Given the description of an element on the screen output the (x, y) to click on. 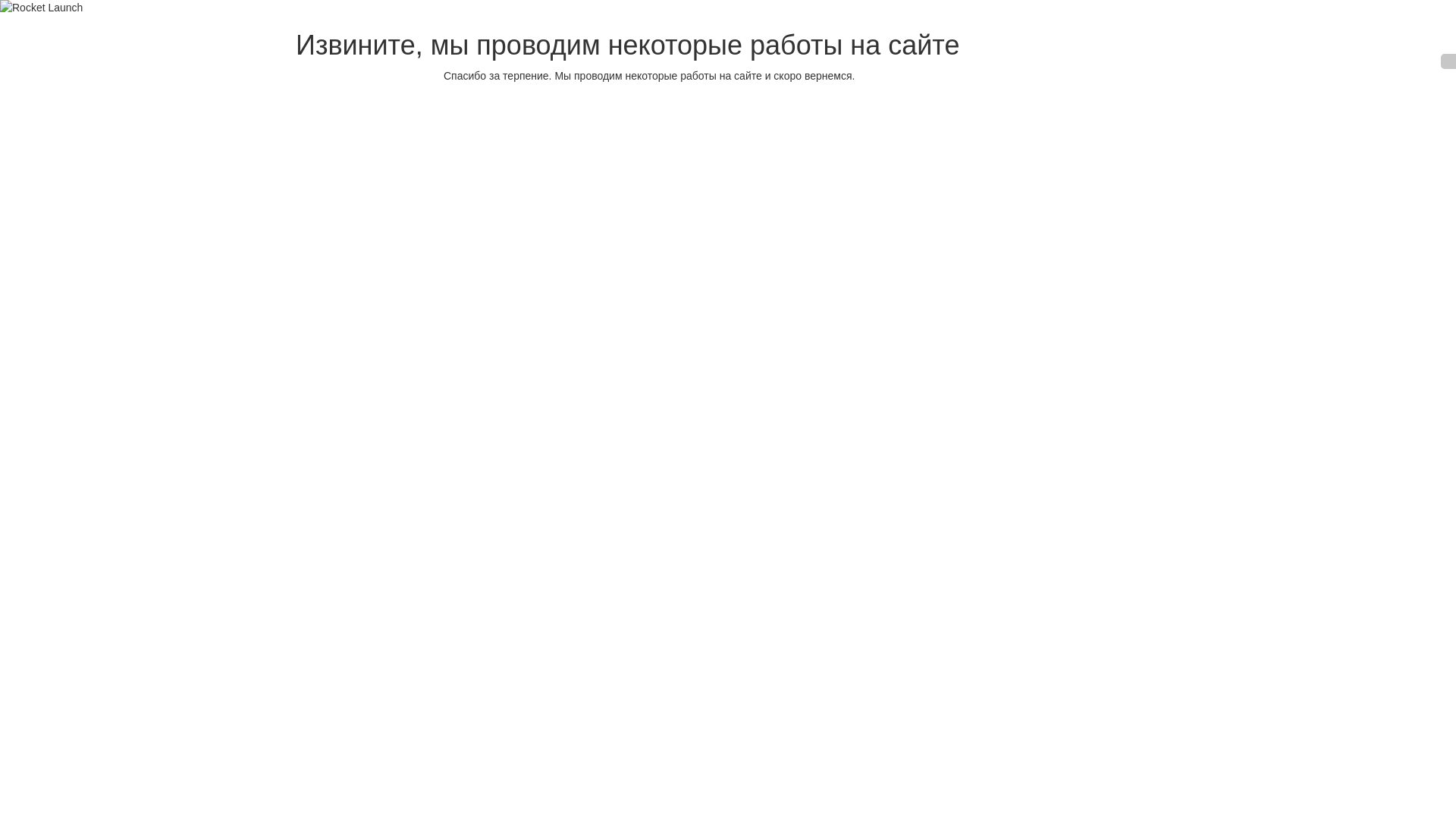
Rocket Launch Element type: hover (41, 7)
